Given the description of an element on the screen output the (x, y) to click on. 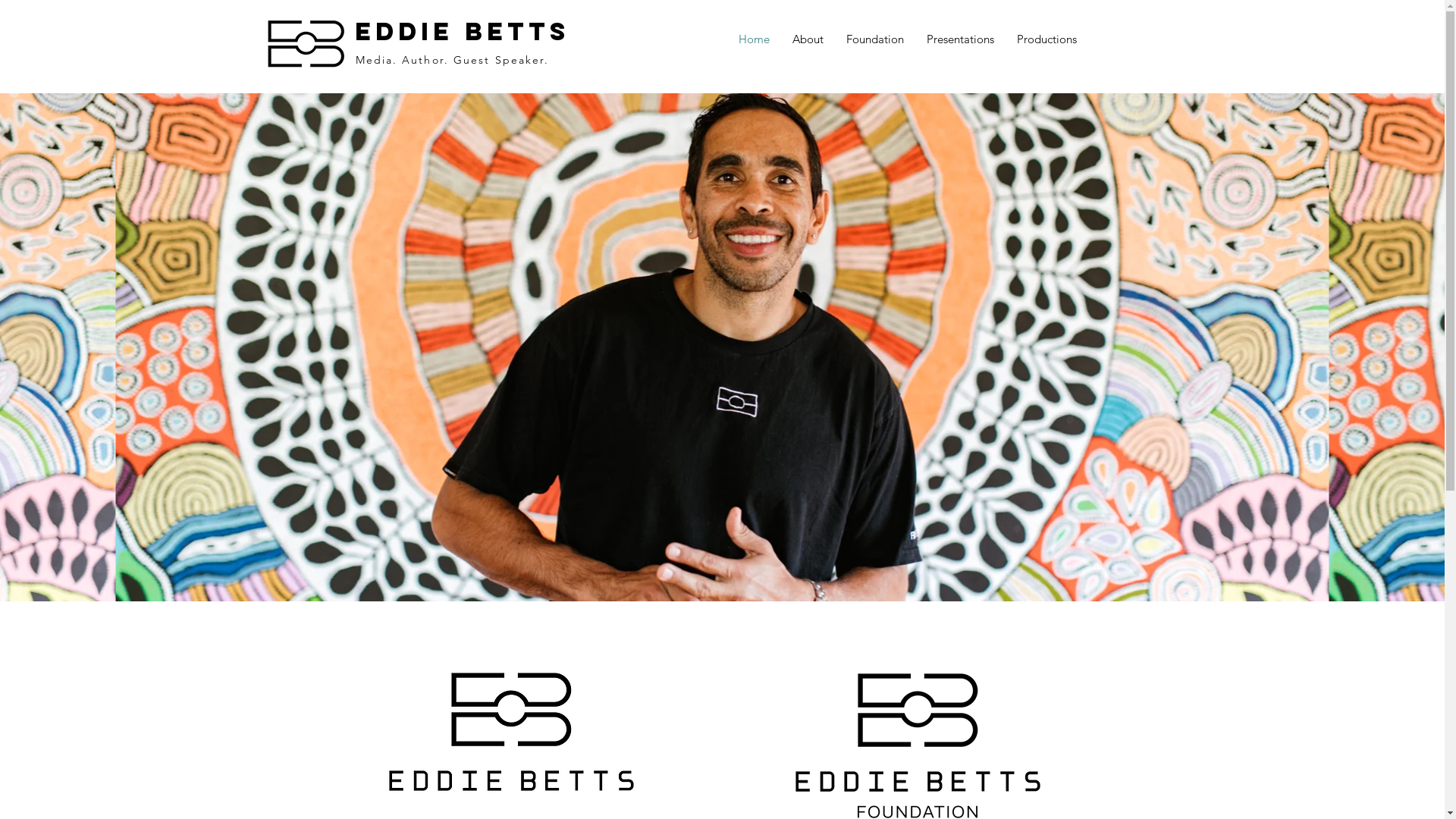
Foundation Element type: text (874, 39)
EDDIE BETTS Element type: text (462, 31)
Home Element type: text (753, 39)
Media. Author. Guest Speaker. Element type: text (451, 59)
Presentations Element type: text (959, 39)
About Element type: text (807, 39)
Productions Element type: text (1046, 39)
